Given the description of an element on the screen output the (x, y) to click on. 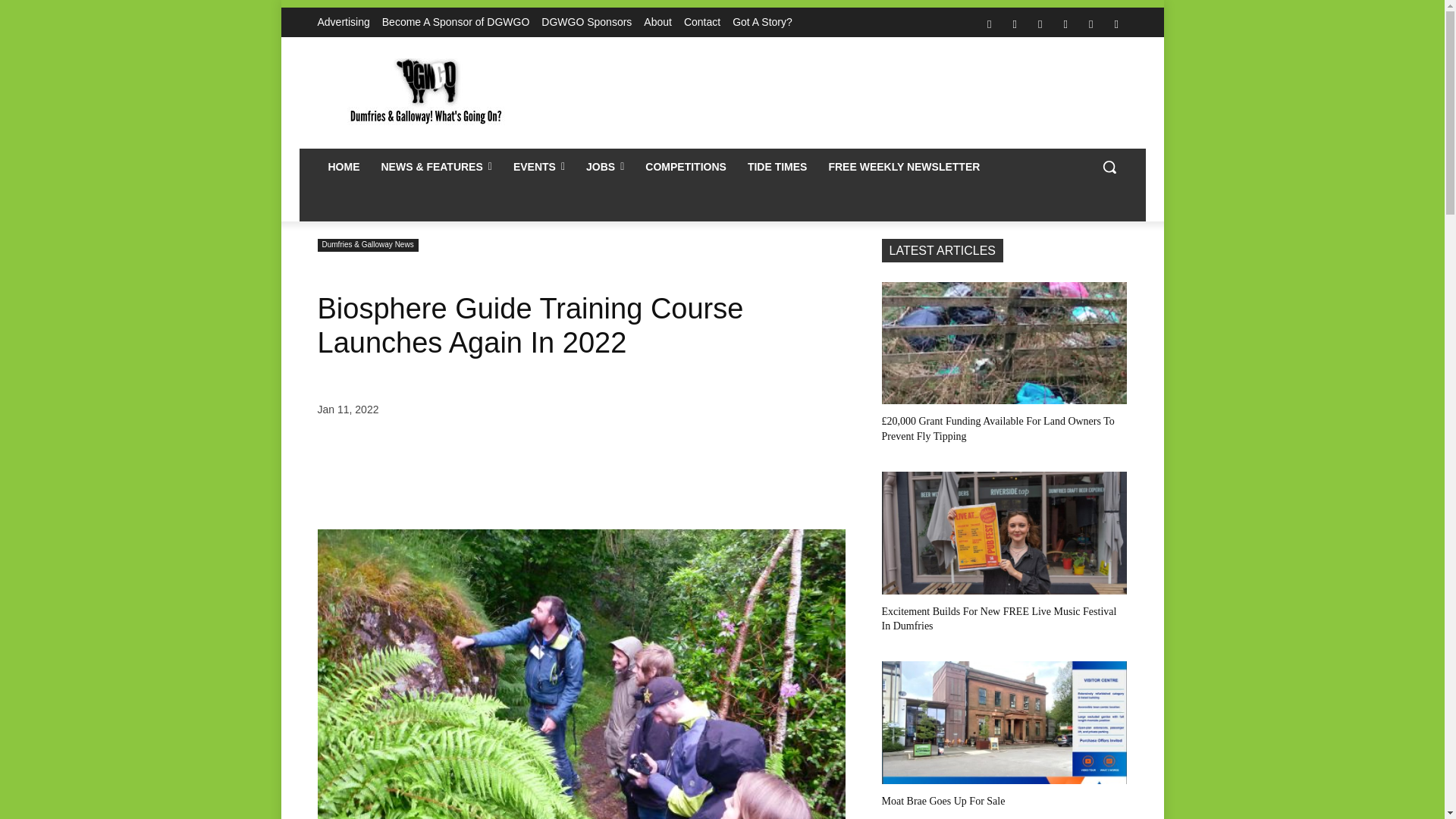
Youtube (1115, 24)
Facebook (989, 24)
TikTok (1065, 24)
Twitter (1091, 24)
About (657, 21)
Contact (702, 21)
Instagram (1015, 24)
Got A Story? (762, 21)
Mail (1040, 24)
Become A Sponsor of DGWGO (455, 21)
